Given the description of an element on the screen output the (x, y) to click on. 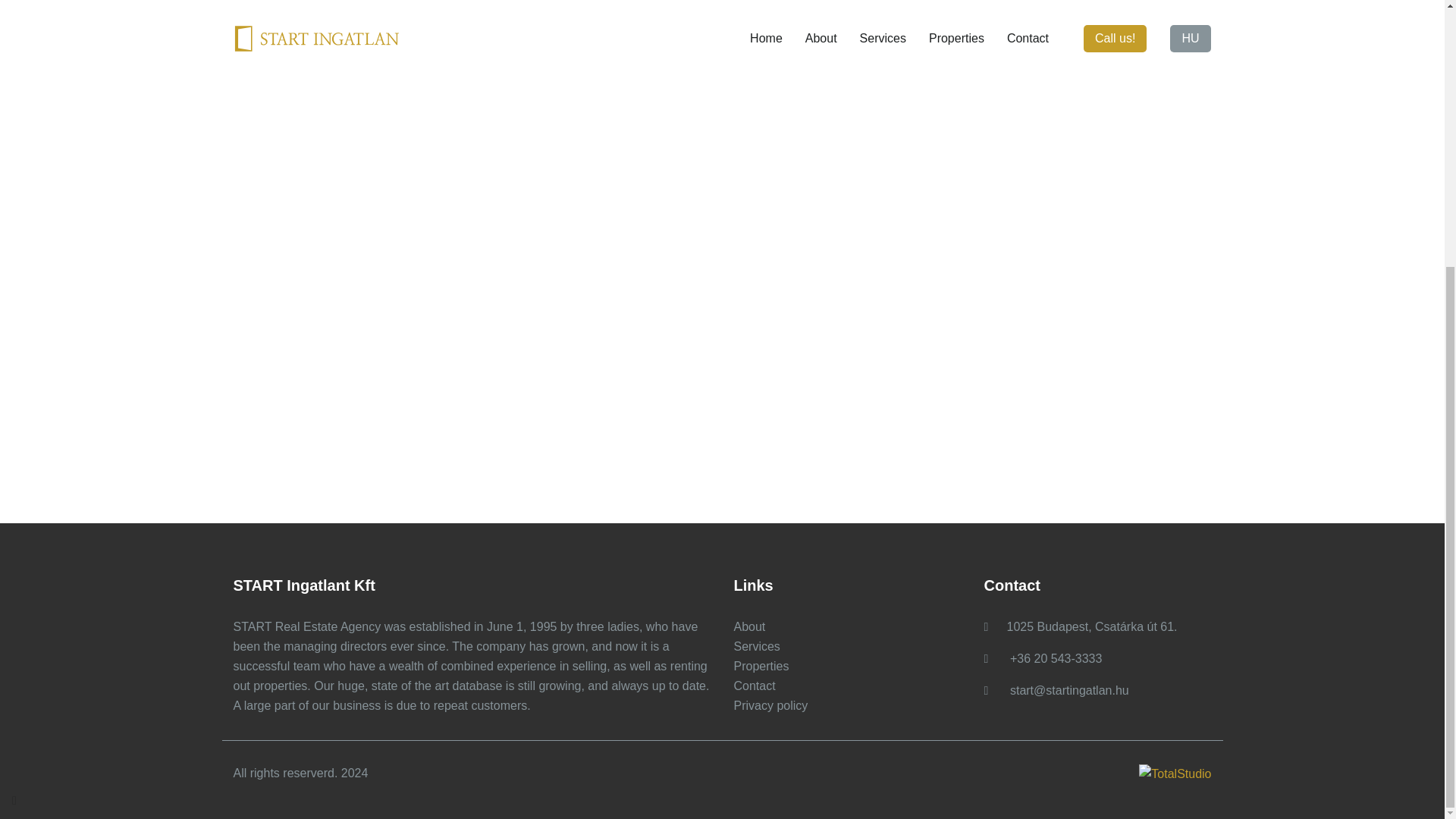
About (749, 626)
Properties (761, 666)
Services (756, 645)
Privacy policy (770, 705)
Contact (754, 685)
